Given the description of an element on the screen output the (x, y) to click on. 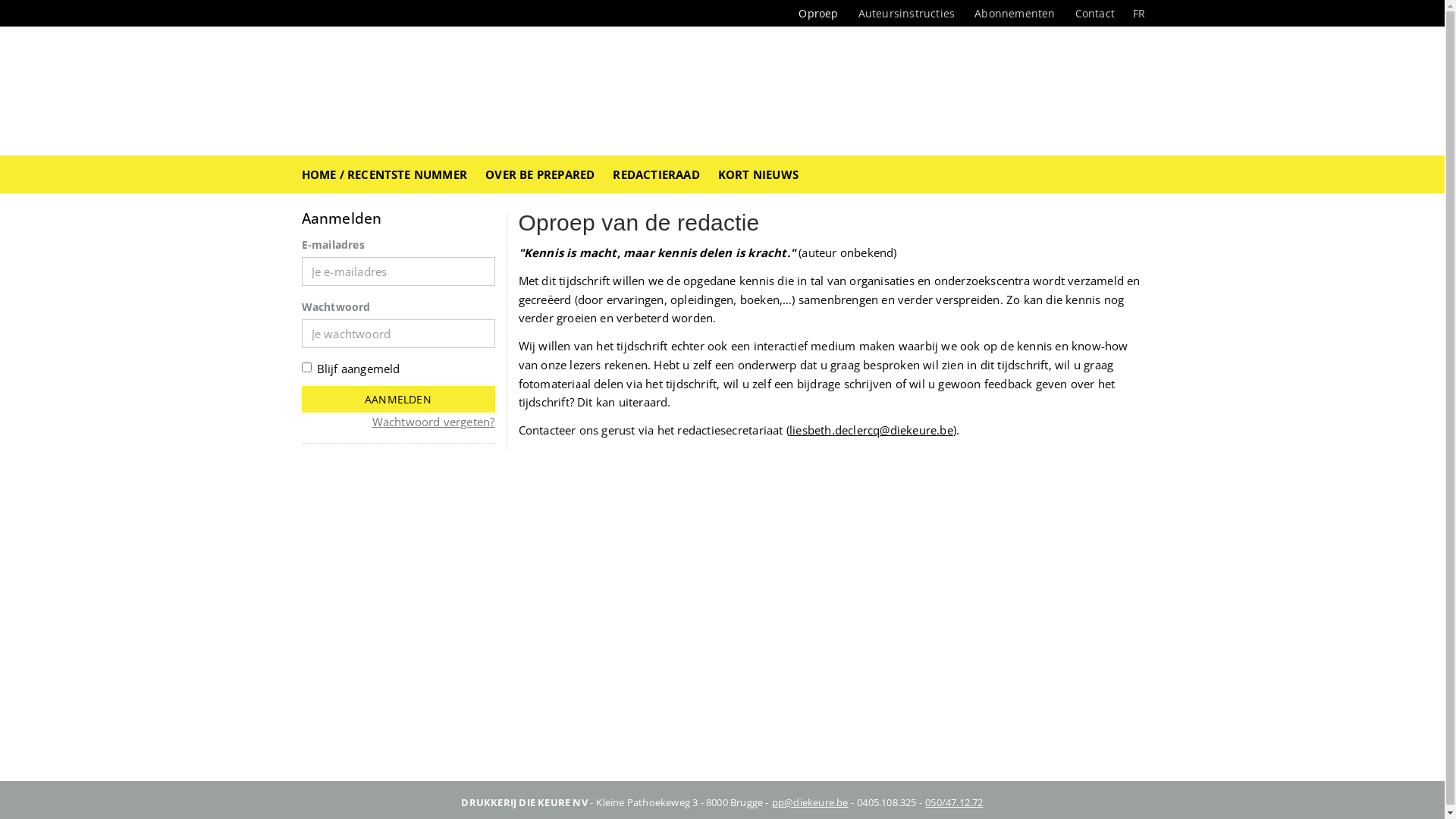
FR Element type: text (1138, 13)
AANMELDEN Element type: text (398, 398)
Oproep Element type: text (818, 13)
Auteursinstructies Element type: text (906, 13)
Abonnementen Element type: text (1014, 13)
KORT NIEUWS Element type: text (758, 174)
REDACTIERAAD Element type: text (655, 174)
OVER BE PREPARED Element type: text (539, 174)
pp@diekeure.be Element type: text (809, 801)
Wachtwoord vergeten? Element type: text (432, 421)
050/47.12.72 Element type: text (953, 801)
HOME / RECENTSTE NUMMER Element type: text (384, 174)
liesbeth.declercq@diekeure.be Element type: text (871, 429)
Contact Element type: text (1094, 13)
